Given the description of an element on the screen output the (x, y) to click on. 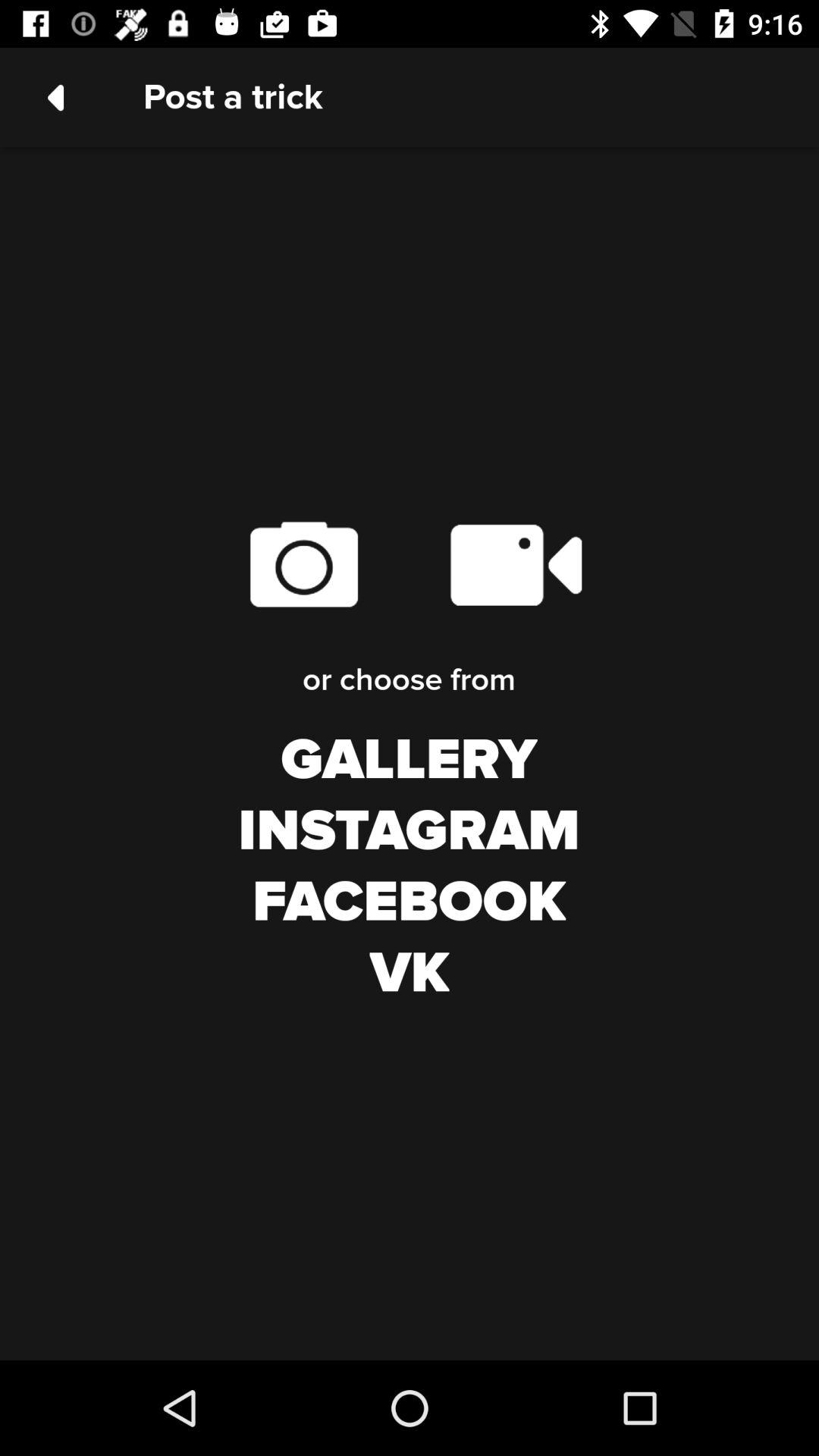
turn on icon above vk icon (408, 902)
